Given the description of an element on the screen output the (x, y) to click on. 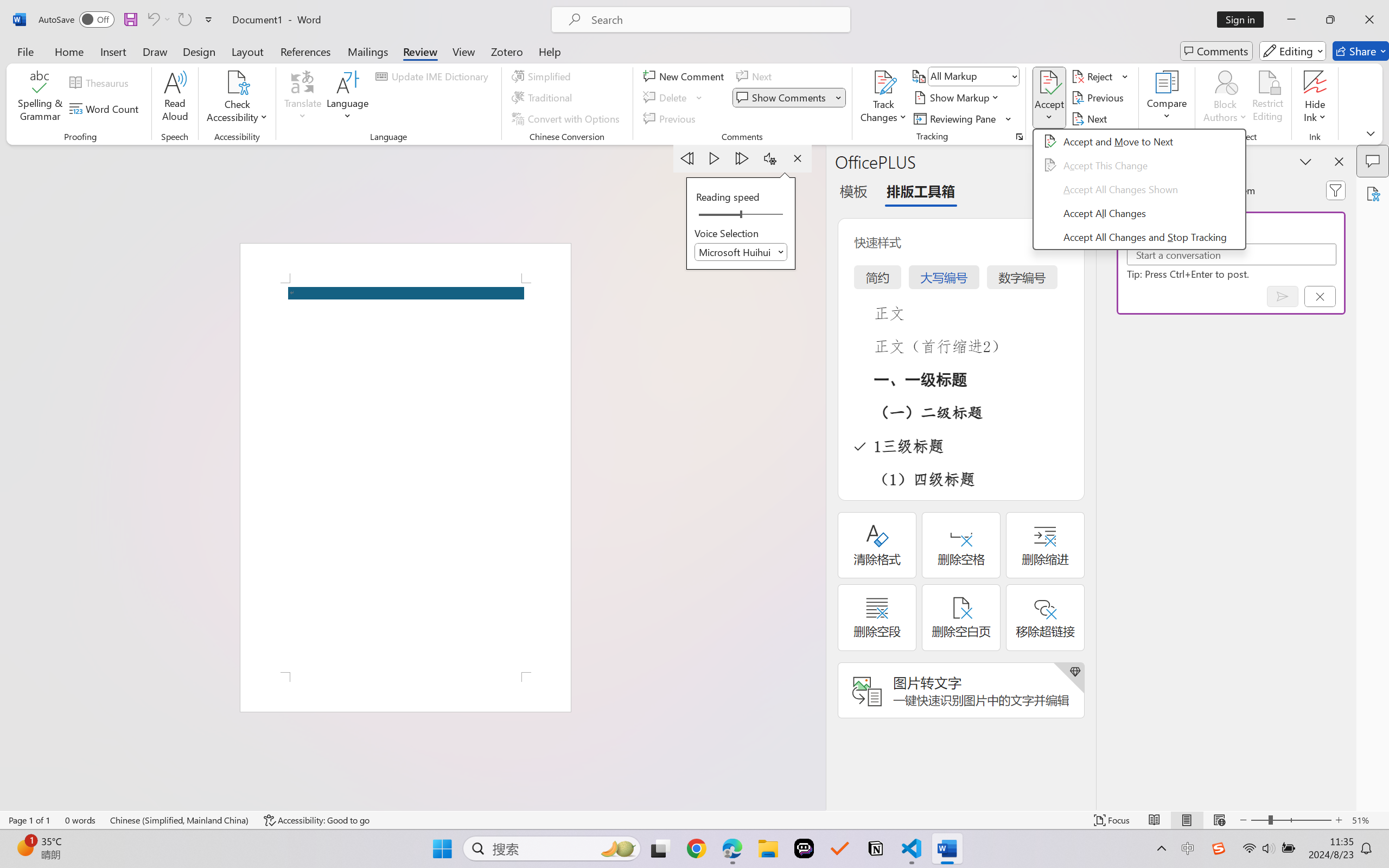
Spelling & Grammar (39, 97)
Reading speed (740, 214)
Editing (1292, 50)
Accept (1049, 97)
Post comment (Ctrl + Enter) (1282, 296)
